Given the description of an element on the screen output the (x, y) to click on. 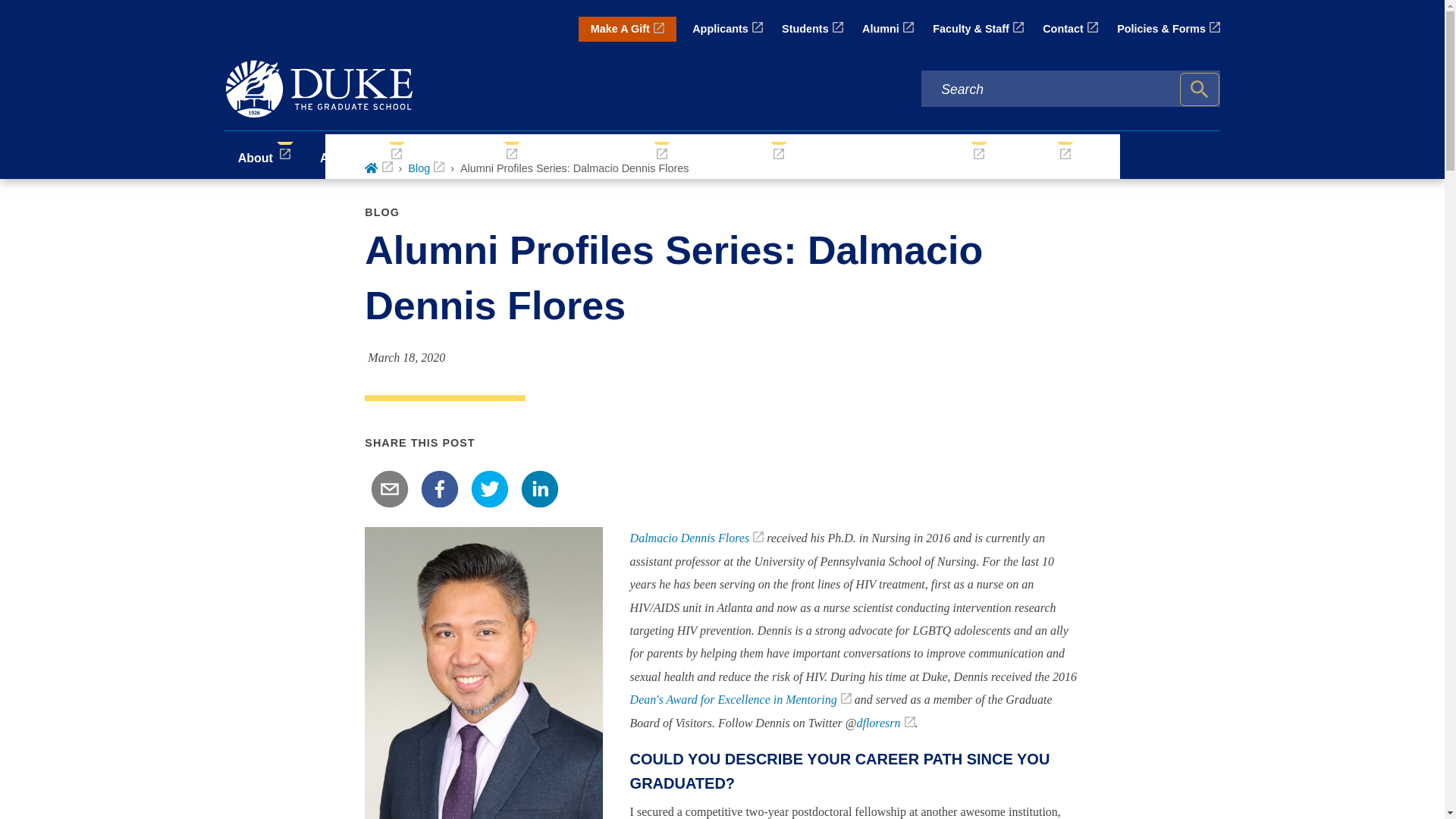
Contact (1069, 28)
Home (378, 168)
Students (812, 28)
Academics (361, 155)
About (264, 155)
Make A Gift (627, 28)
Alumni (887, 28)
Applicants (727, 28)
Admissions (475, 155)
